Given the description of an element on the screen output the (x, y) to click on. 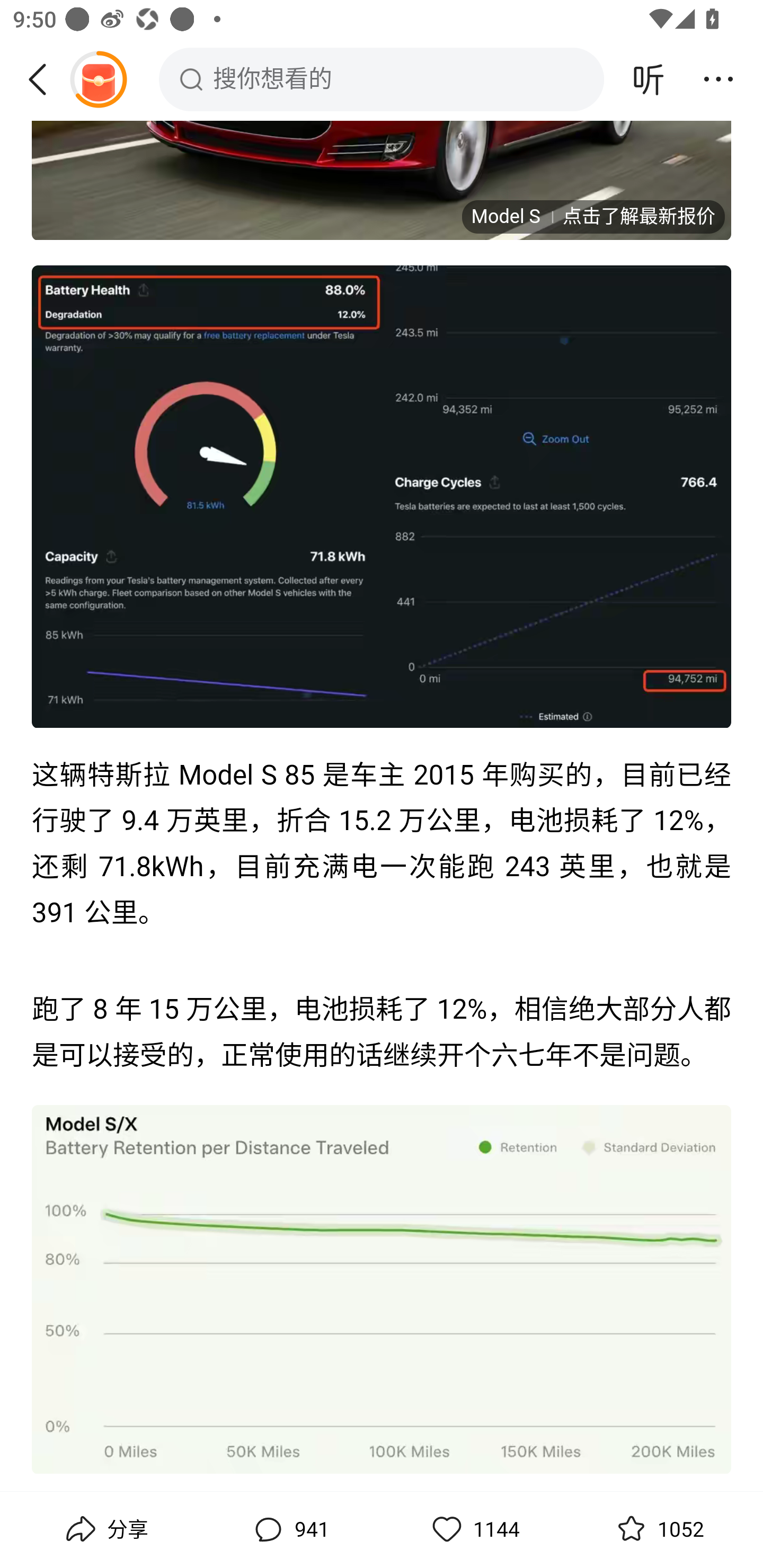
返回 (44, 78)
听头条 (648, 78)
更多操作 (718, 78)
搜你想看的 搜索框，搜你想看的 (381, 79)
阅读赚金币 (98, 79)
Model S点击了解最新报价 (592, 216)
图片，点击识别内容 (381, 495)
图片，点击识别内容 (381, 1289)
分享 (104, 1529)
评论,941 941 (288, 1529)
收藏,1052 1052 (658, 1529)
